Given the description of an element on the screen output the (x, y) to click on. 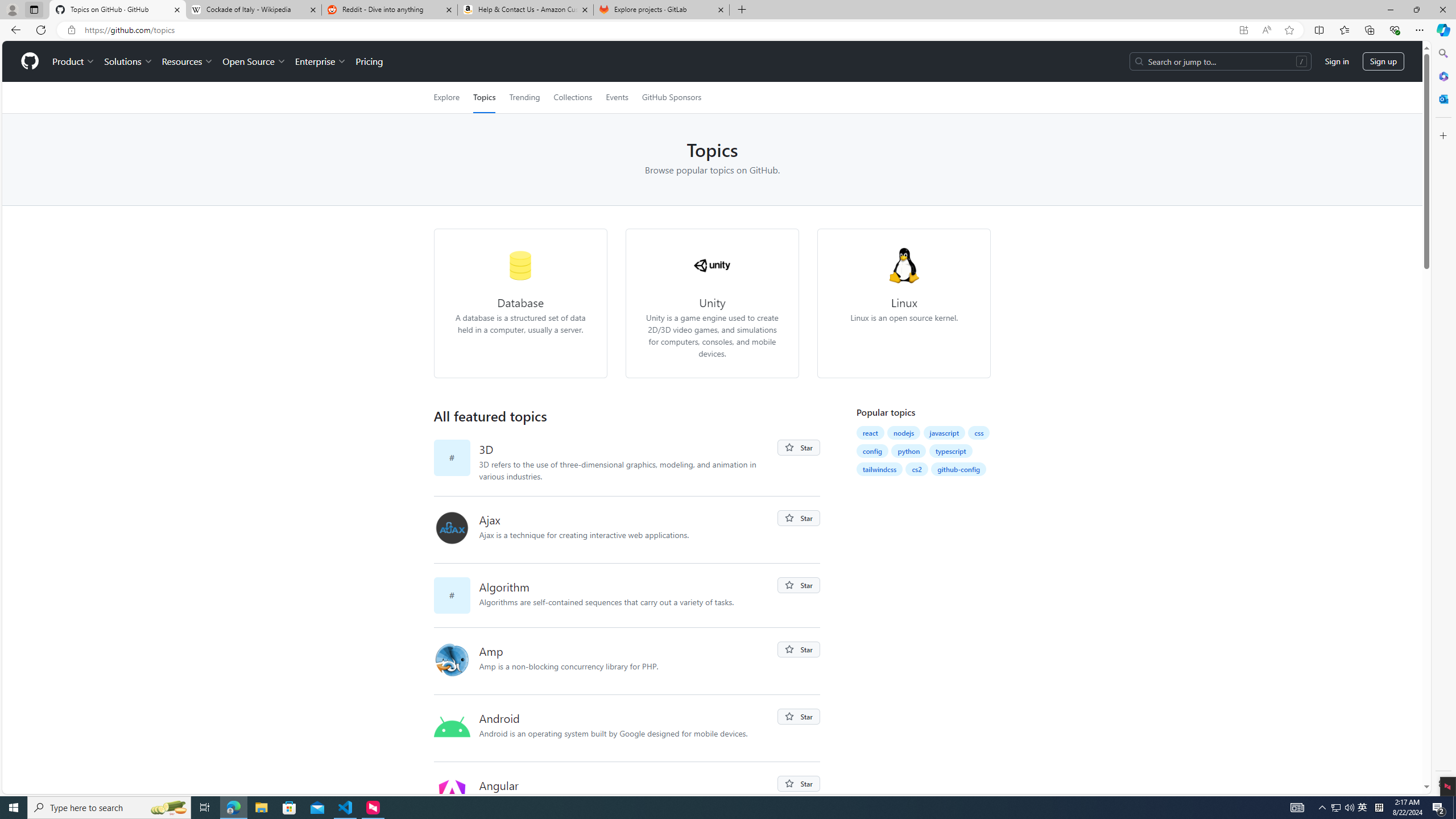
python (909, 451)
android (456, 727)
css (979, 432)
Product (74, 60)
LinuxLinux is an open source kernel. (904, 303)
github-config (958, 468)
Product (74, 60)
Solutions (128, 60)
javascript (944, 432)
